Given the description of an element on the screen output the (x, y) to click on. 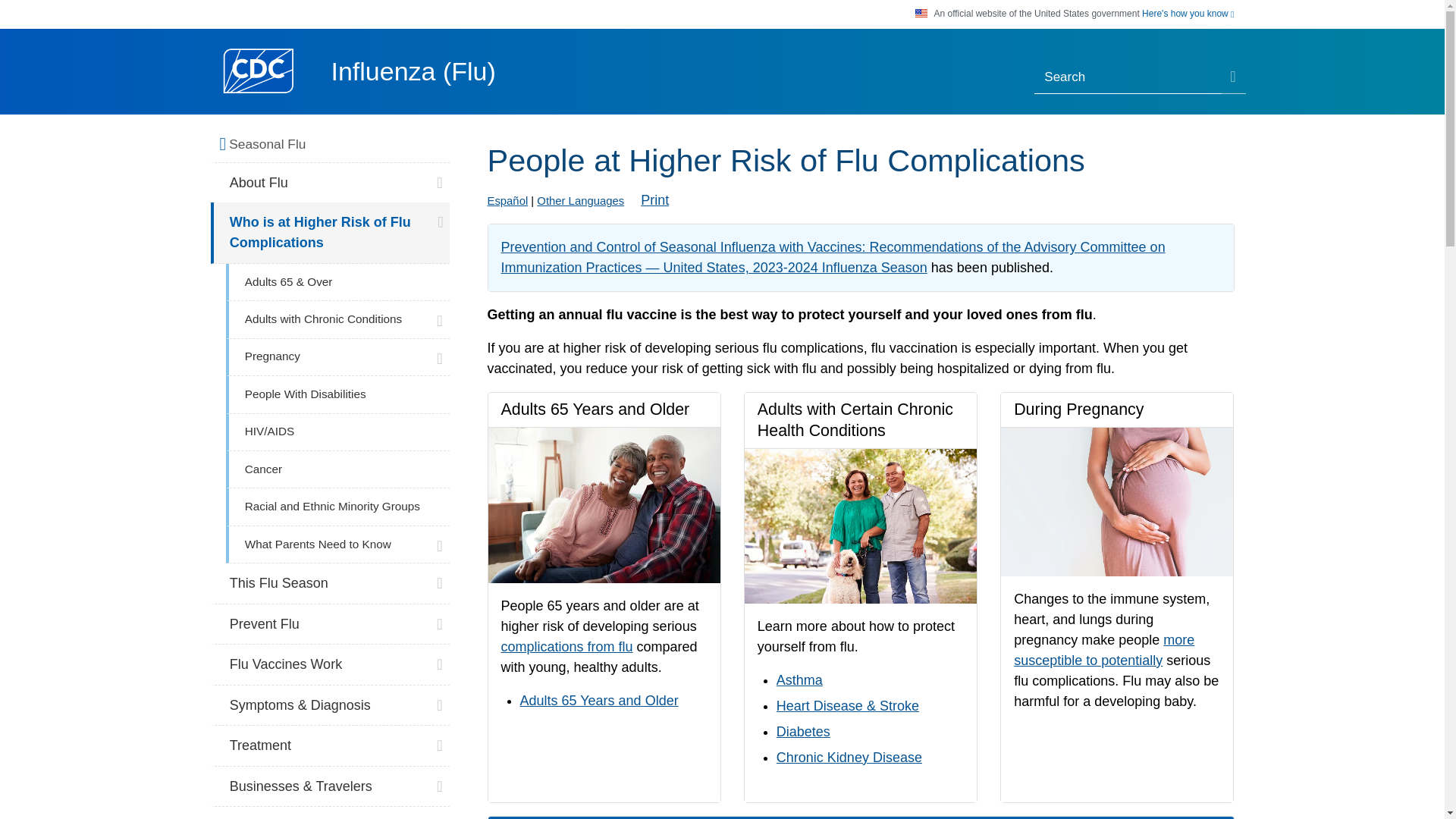
Here's how you know (1187, 14)
